Given the description of an element on the screen output the (x, y) to click on. 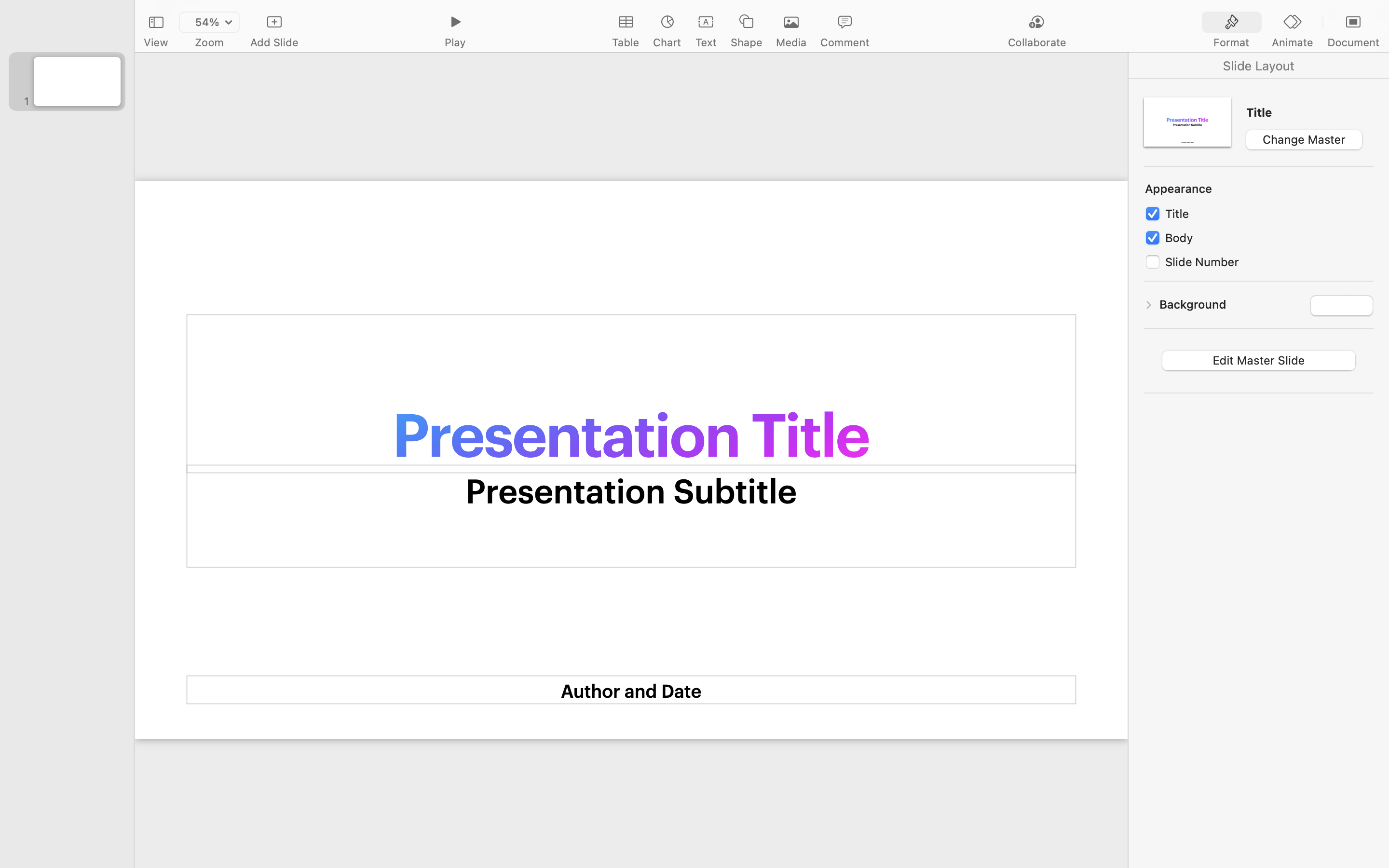
Animate Element type: AXStaticText (1291, 42)
<AXUIElement 0x150f202e0> {pid=1697} Element type: AXRadioGroup (1258, 65)
